Given the description of an element on the screen output the (x, y) to click on. 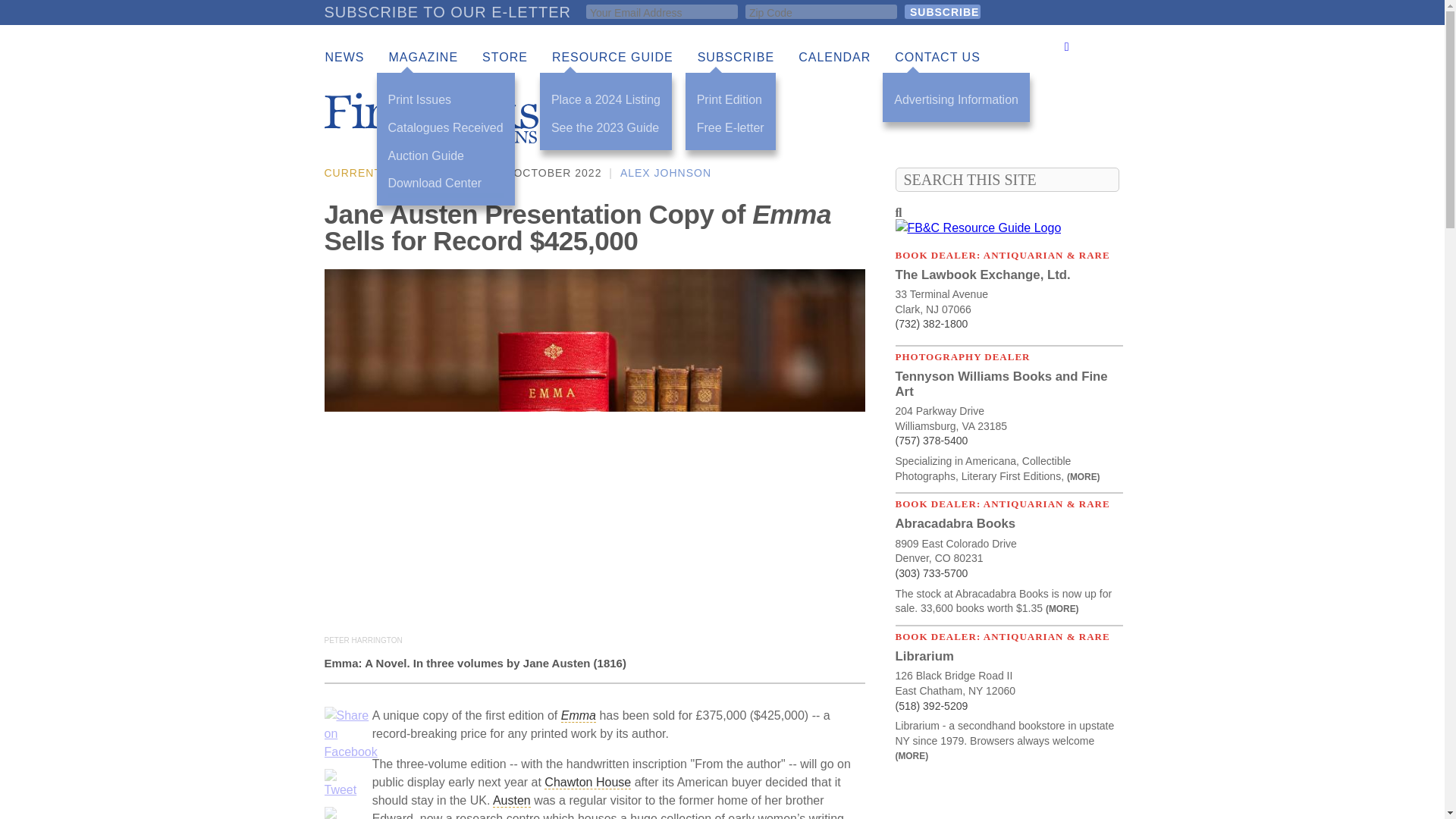
See the 2023 Guide (606, 128)
Auction Guide (445, 156)
NEWS (344, 57)
Print Issues (445, 100)
STORE (505, 57)
Place a 2024 Listing (606, 100)
Catalogues Received (445, 128)
Download Center (445, 183)
RESOURCE GUIDE (612, 57)
